Given the description of an element on the screen output the (x, y) to click on. 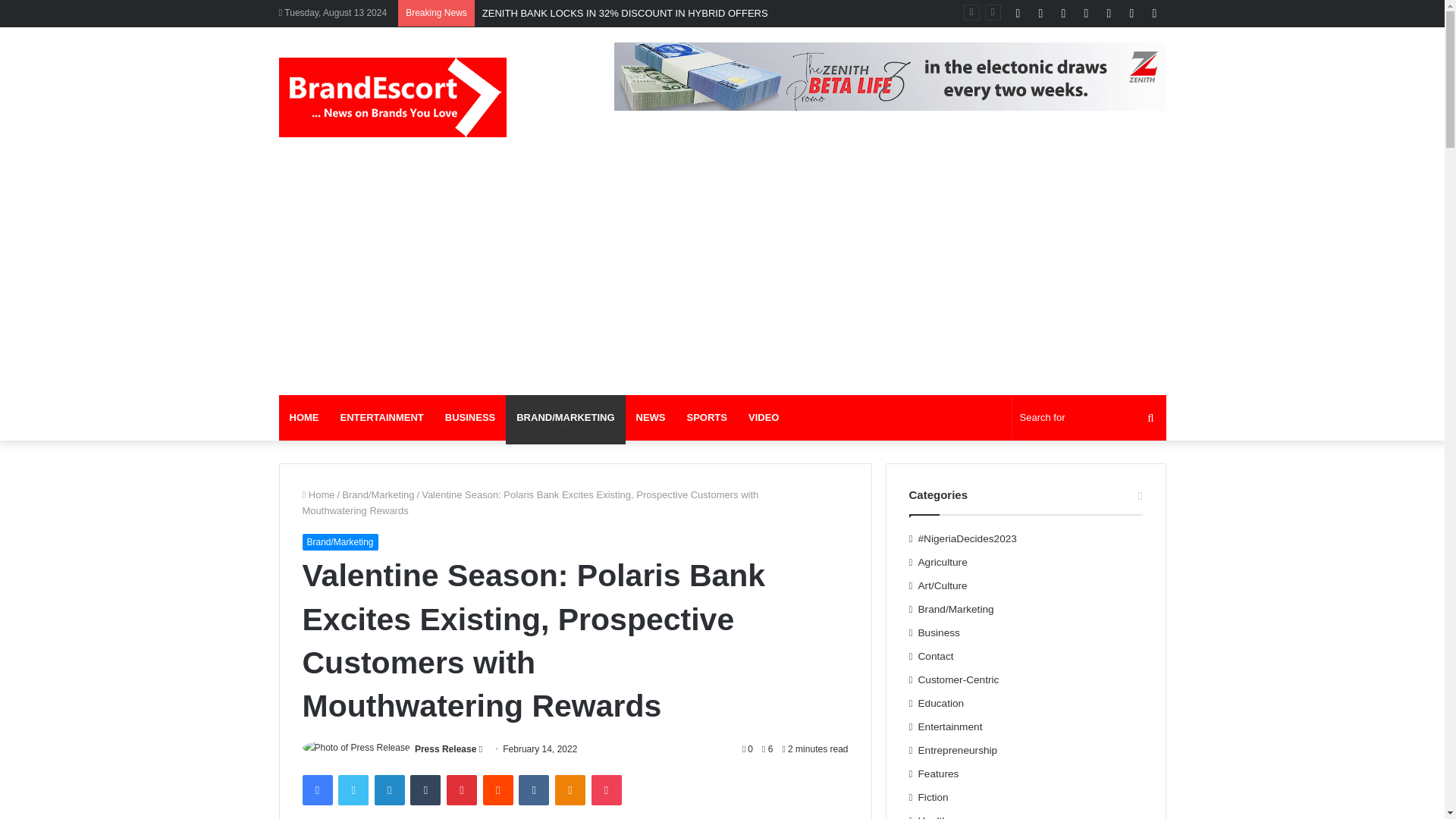
Odnoklassniki (569, 789)
Home (317, 494)
Twitter (352, 789)
Pocket (606, 789)
HOME (304, 417)
BrandEscort (392, 97)
Search for (1088, 417)
Press Release (445, 748)
NEWS (651, 417)
Press Release (445, 748)
